Given the description of an element on the screen output the (x, y) to click on. 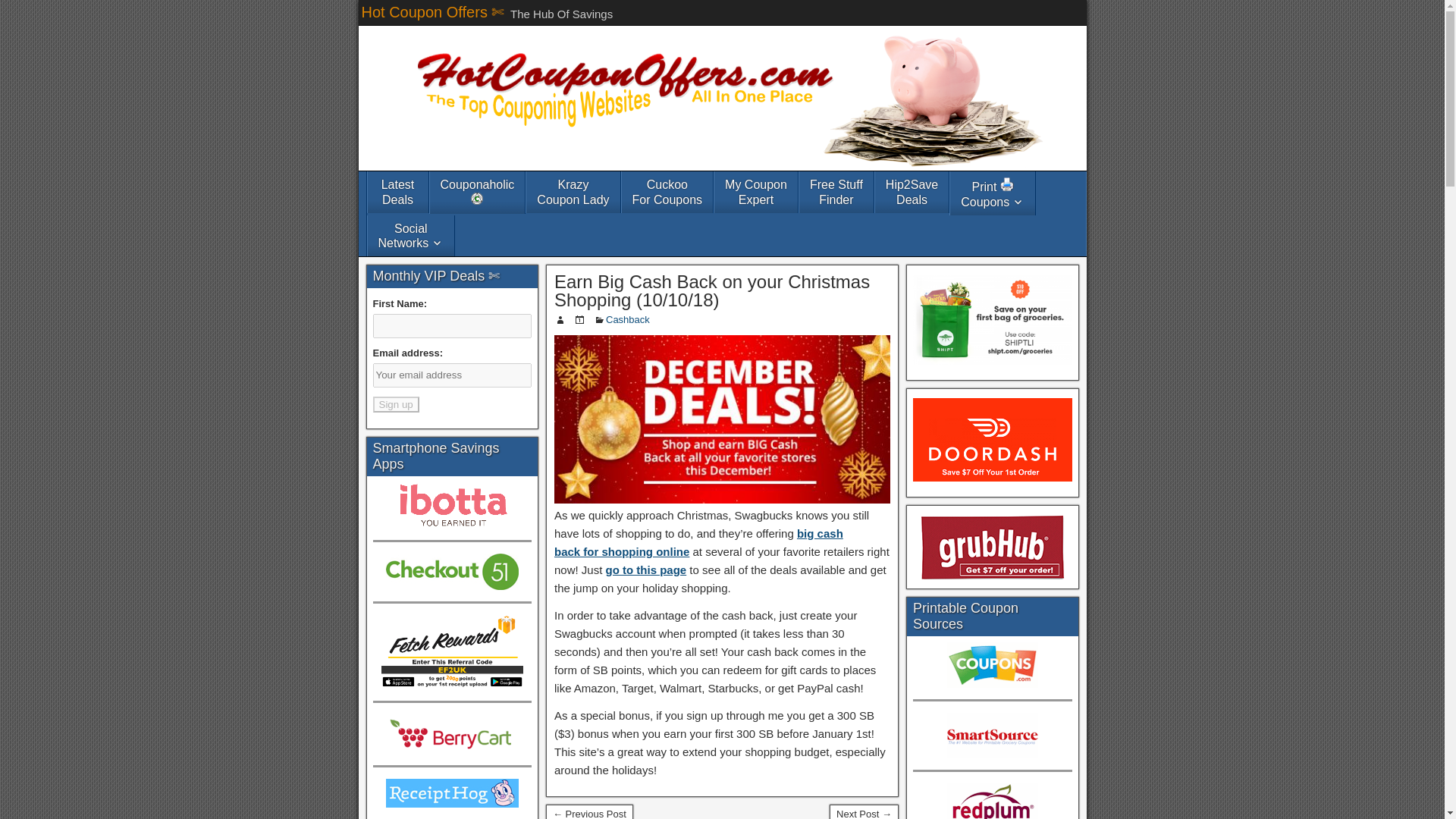
go to this page (646, 569)
big cash back for shopping online (836, 191)
Sign up (410, 235)
Sign up (698, 542)
Couponaholic (667, 191)
Cashback (395, 404)
